Given the description of an element on the screen output the (x, y) to click on. 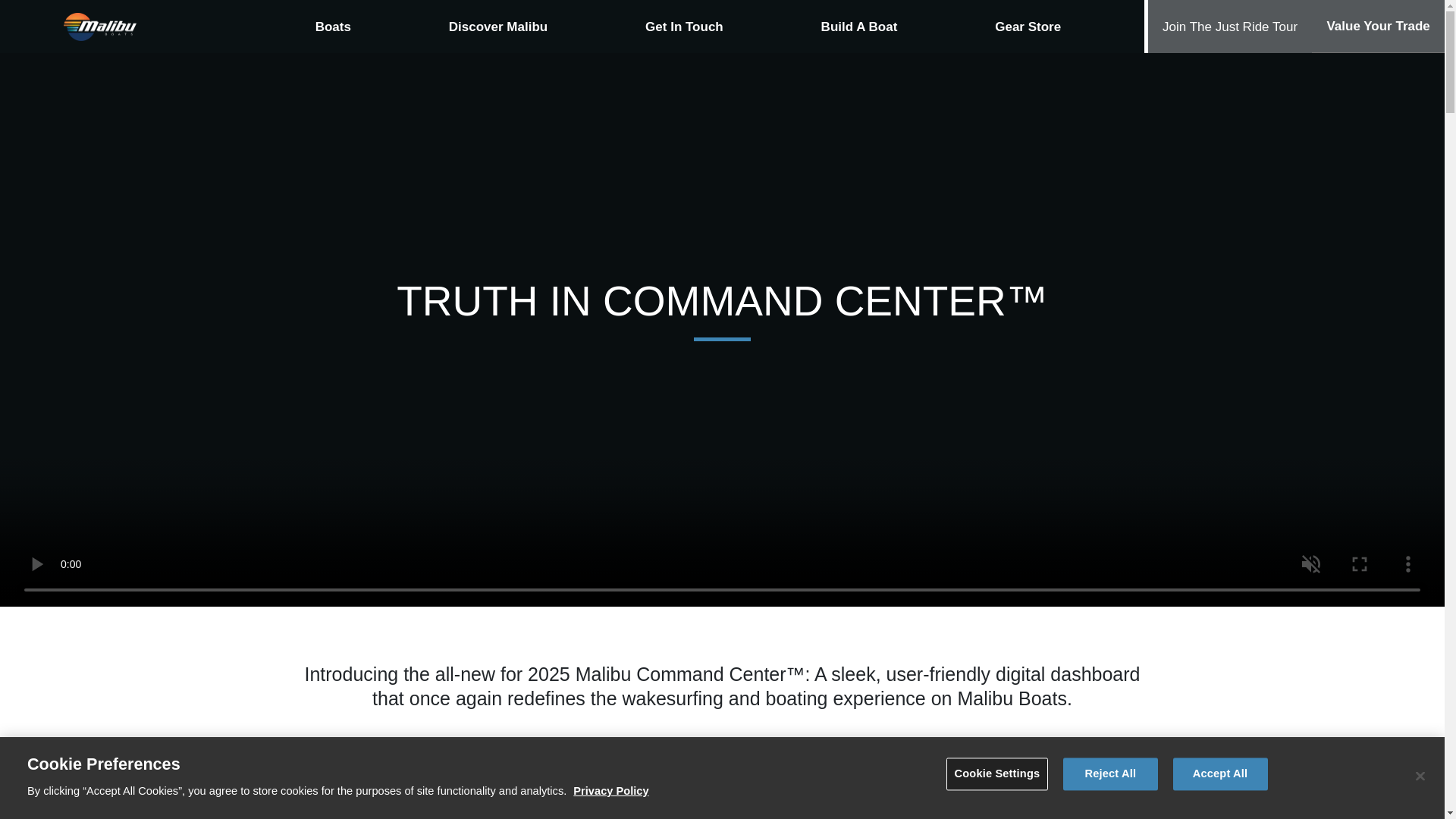
Build A Boat (858, 26)
Discover Malibu (497, 26)
Discover Malibu (497, 26)
Boats (333, 26)
Build A Boat (858, 26)
Gear Store (1027, 26)
Boats (333, 26)
Join The Just Ride Tour (1229, 26)
Get In Touch (684, 26)
Get In Touch (684, 26)
